Given the description of an element on the screen output the (x, y) to click on. 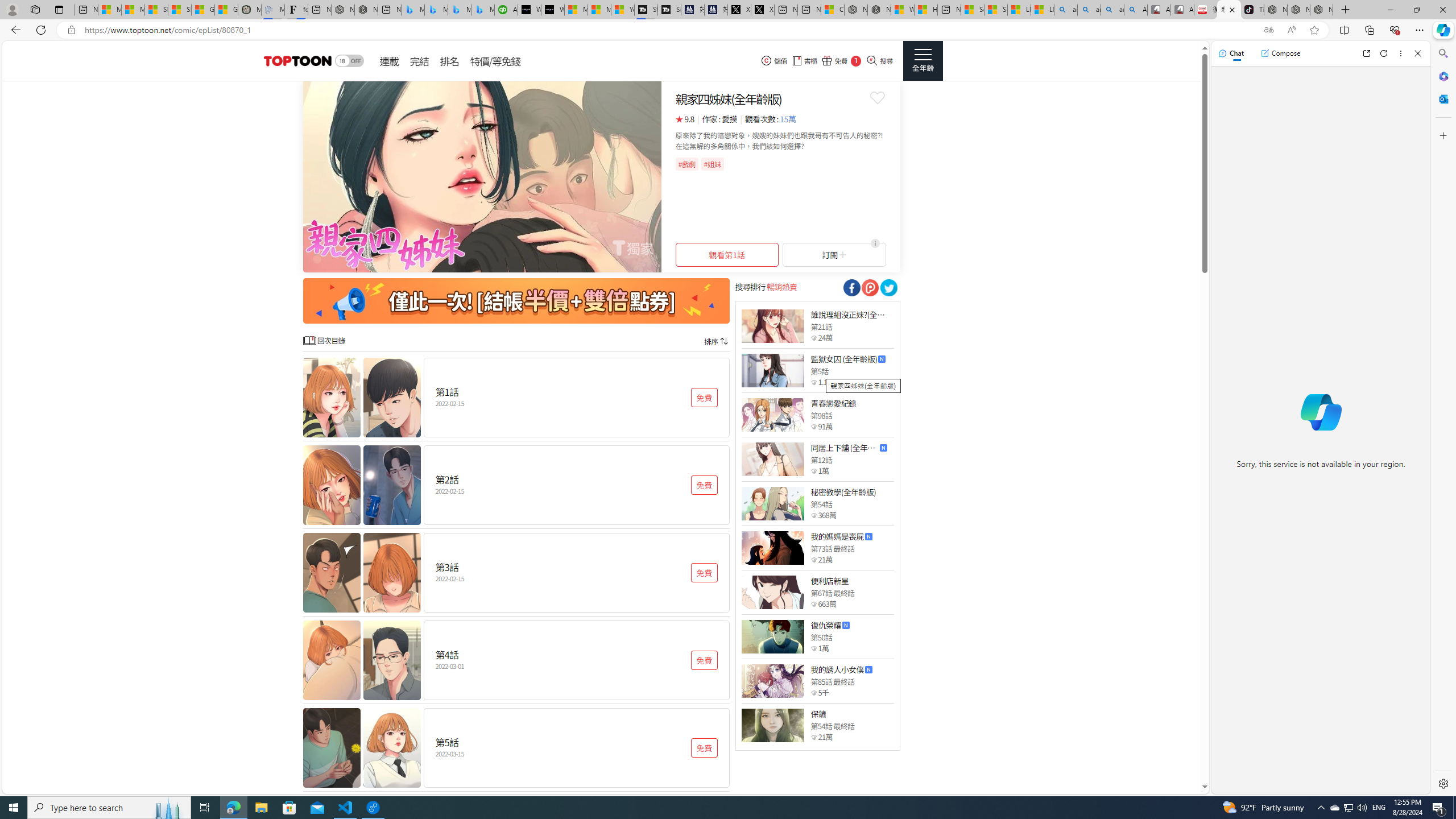
View site information (70, 29)
More options (1401, 53)
